Given the description of an element on the screen output the (x, y) to click on. 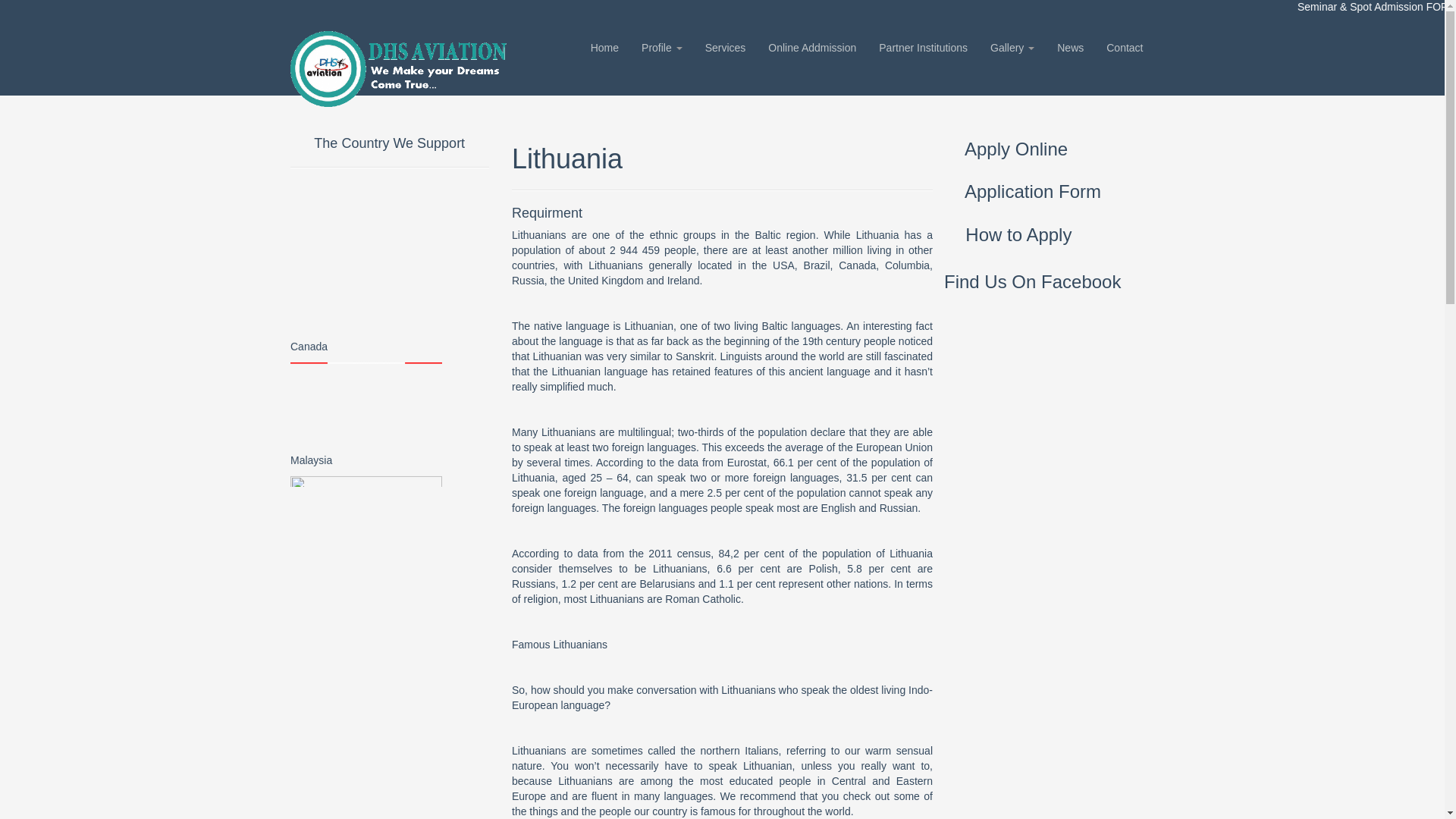
Profile (662, 47)
  Application Form (1054, 191)
Online Addmission (812, 47)
Croatia (389, 740)
  How to Apply (1054, 234)
News (1069, 47)
Contact (1124, 47)
Poland (389, 807)
  Apply Online (1054, 148)
Canada (389, 515)
Gallery (1011, 47)
Partner Institutions (922, 47)
Services (725, 47)
Home (604, 47)
Malaysia (389, 627)
